Given the description of an element on the screen output the (x, y) to click on. 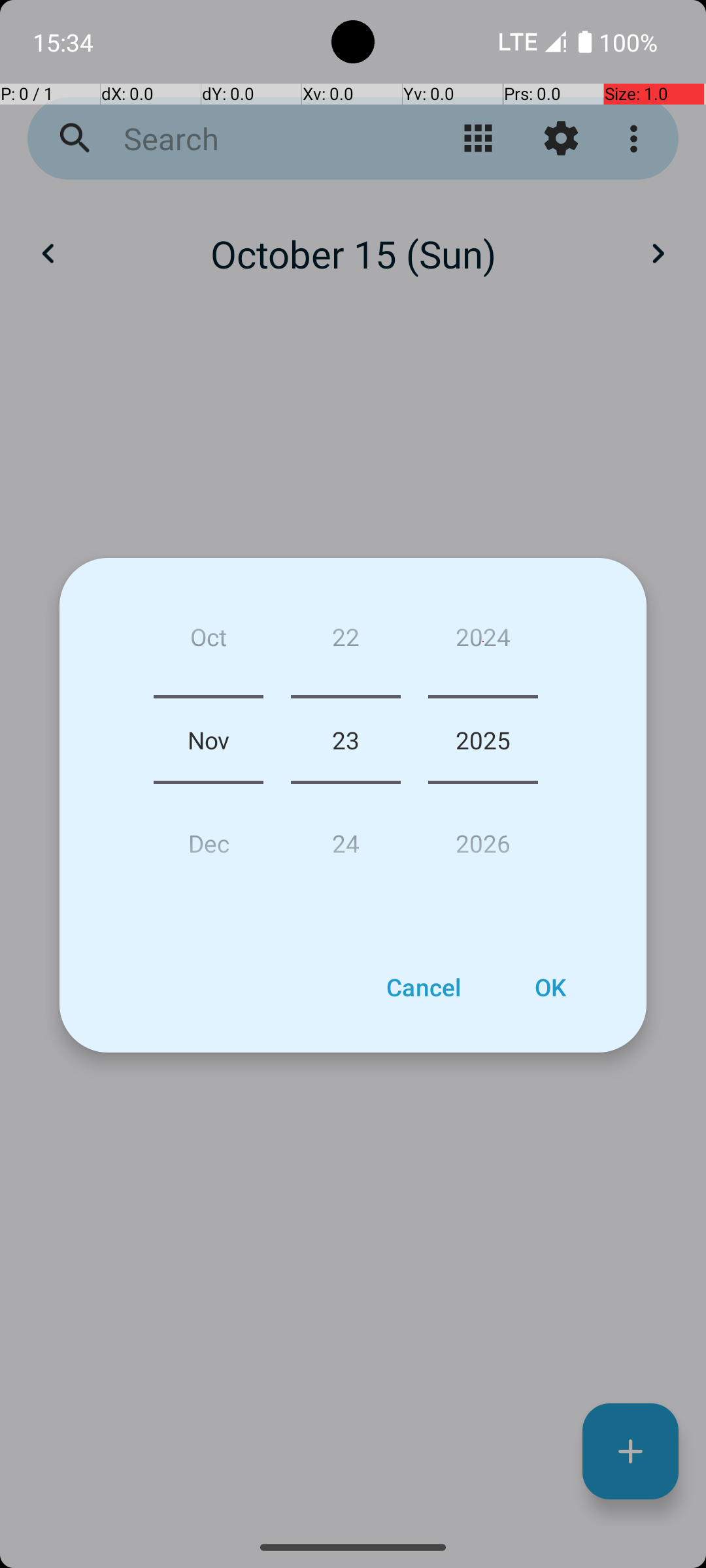
Dec Element type: android.widget.Button (208, 837)
